Given the description of an element on the screen output the (x, y) to click on. 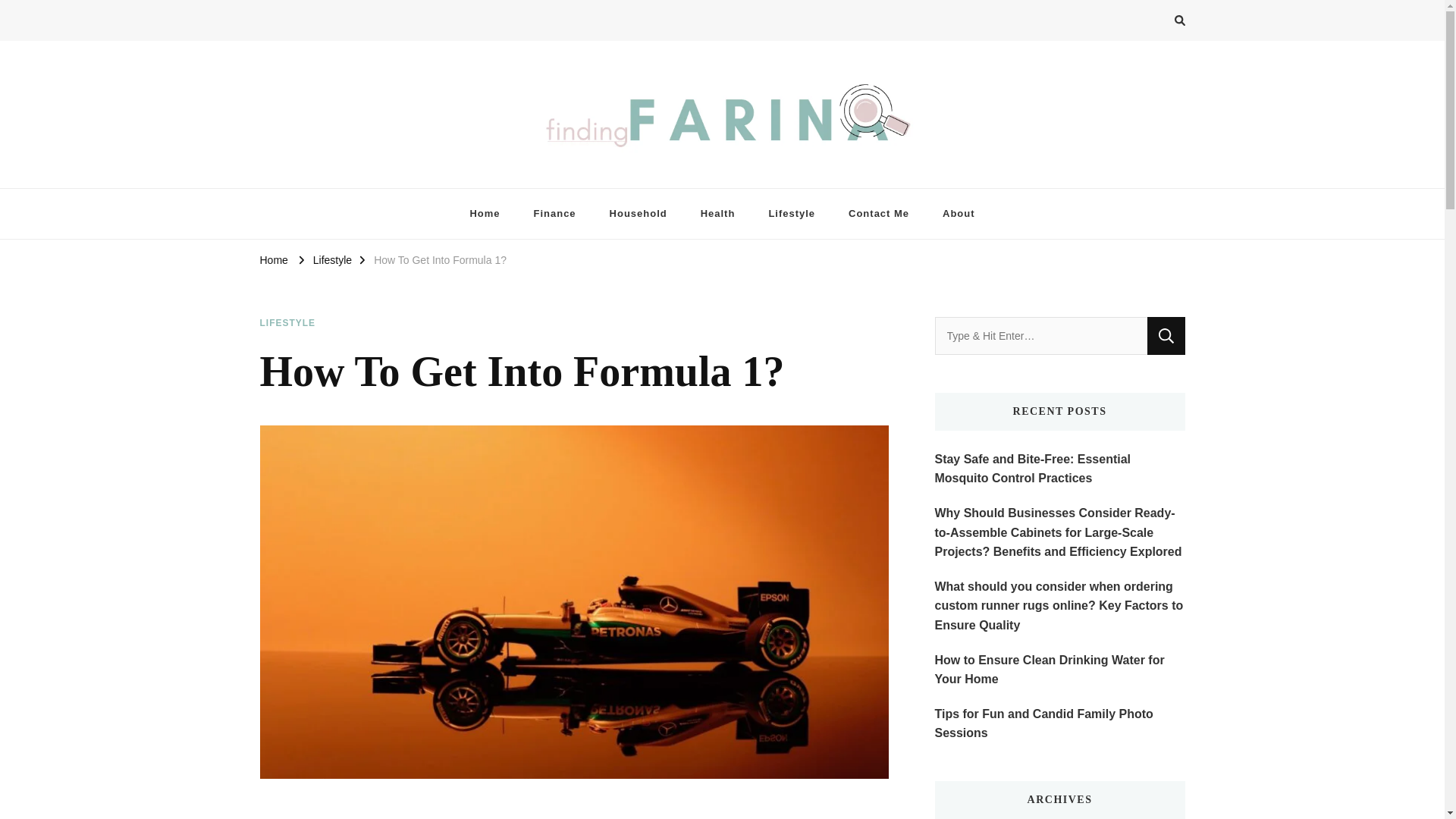
Home (272, 259)
How to Ensure Clean Drinking Water for Your Home (1059, 669)
Finding Farina (332, 179)
Search (1152, 22)
Search (1166, 335)
Lifestyle (791, 214)
Contact Me (878, 214)
Tips for Fun and Candid Family Photo Sessions (1059, 723)
How To Get Into Formula 1? (440, 259)
Lifestyle (332, 259)
Search (1166, 335)
LIFESTYLE (287, 323)
Home (484, 214)
